Given the description of an element on the screen output the (x, y) to click on. 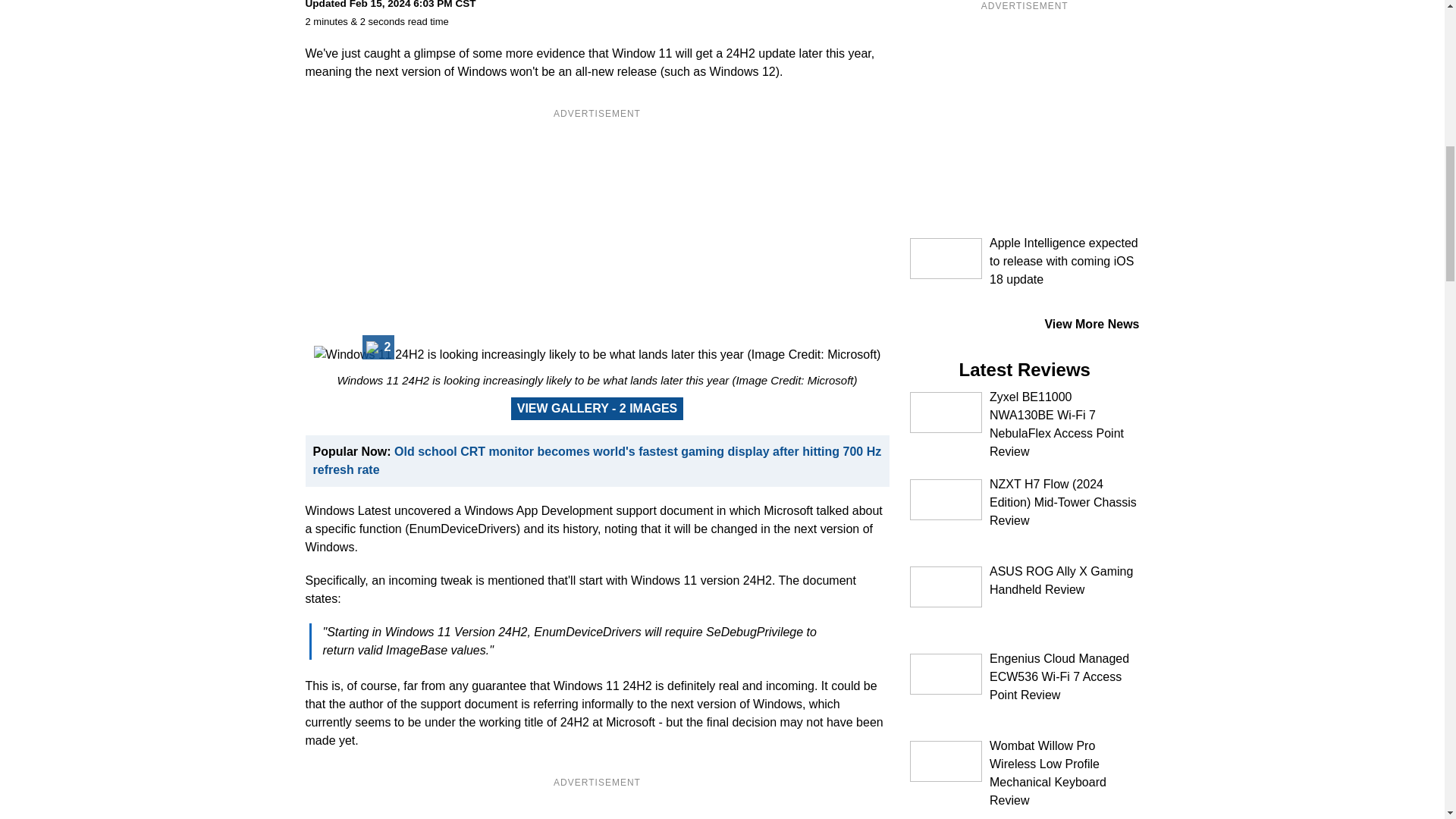
Open Gallery (378, 346)
Open Gallery (597, 408)
